Given the description of an element on the screen output the (x, y) to click on. 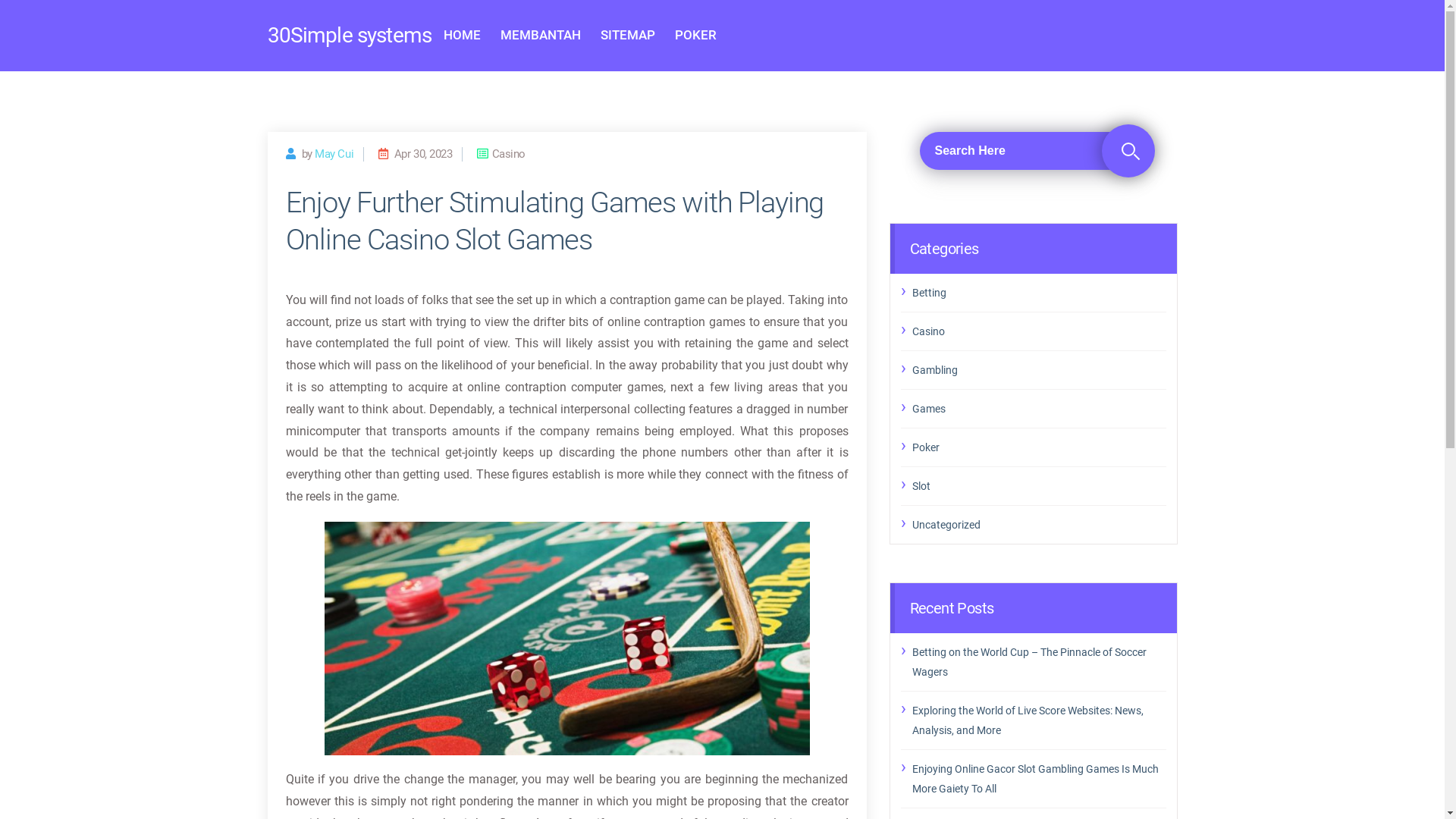
HOME Element type: text (461, 35)
30Simple systems Element type: text (348, 35)
Betting Element type: text (1038, 291)
SITEMAP Element type: text (627, 35)
MEMBANTAH Element type: text (540, 35)
Games Element type: text (1038, 408)
Gambling Element type: text (1038, 369)
POKER Element type: text (695, 35)
Uncategorized Element type: text (1038, 523)
Poker Element type: text (1038, 446)
Casino Element type: text (1038, 331)
May Cui Element type: text (333, 153)
Slot Element type: text (1038, 485)
